Given the description of an element on the screen output the (x, y) to click on. 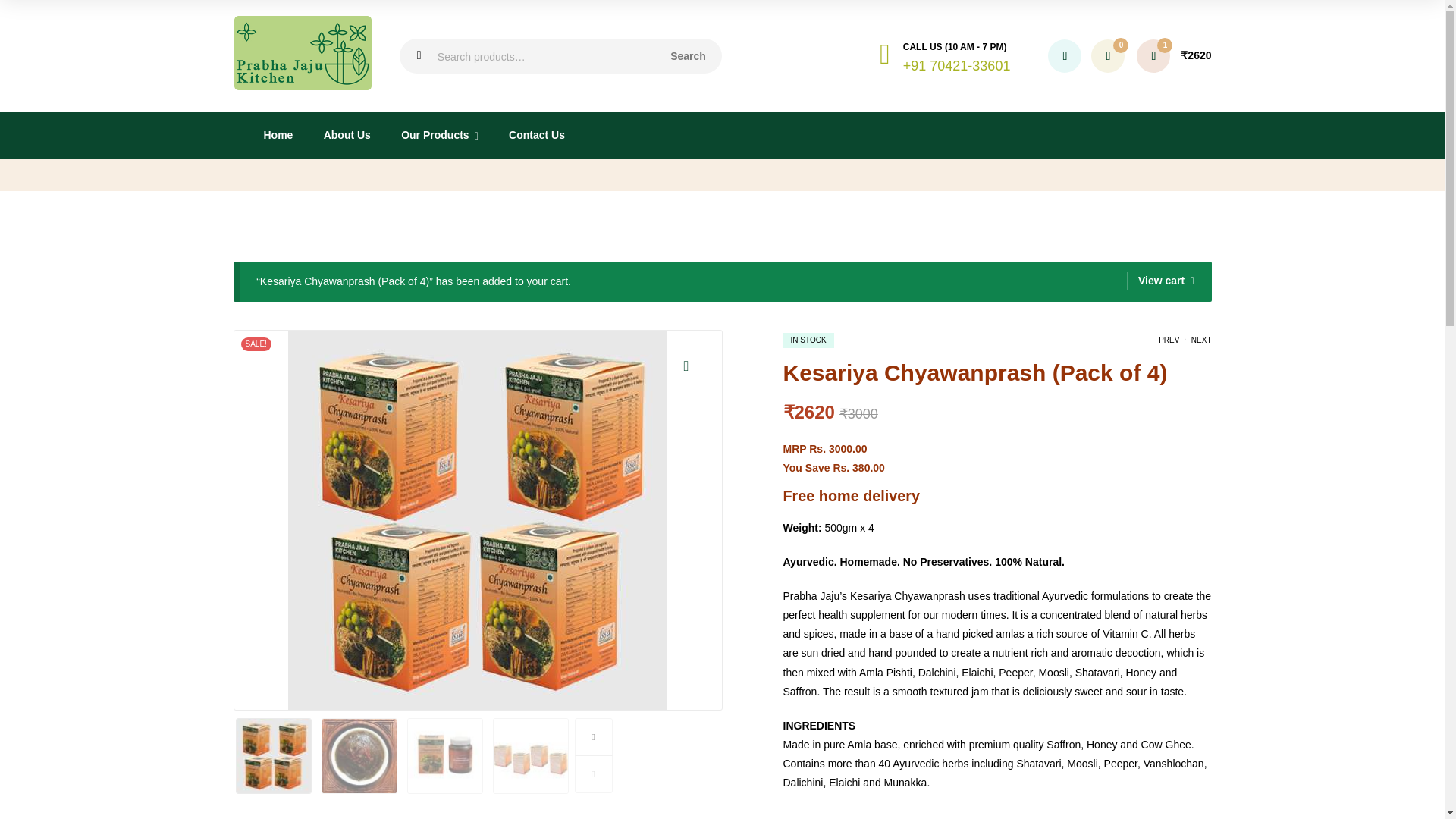
Contact Us (536, 135)
About Us (346, 135)
View your shopping cart (1174, 55)
Home (276, 135)
Search (687, 55)
Our Products (439, 135)
0 (1107, 55)
